Given the description of an element on the screen output the (x, y) to click on. 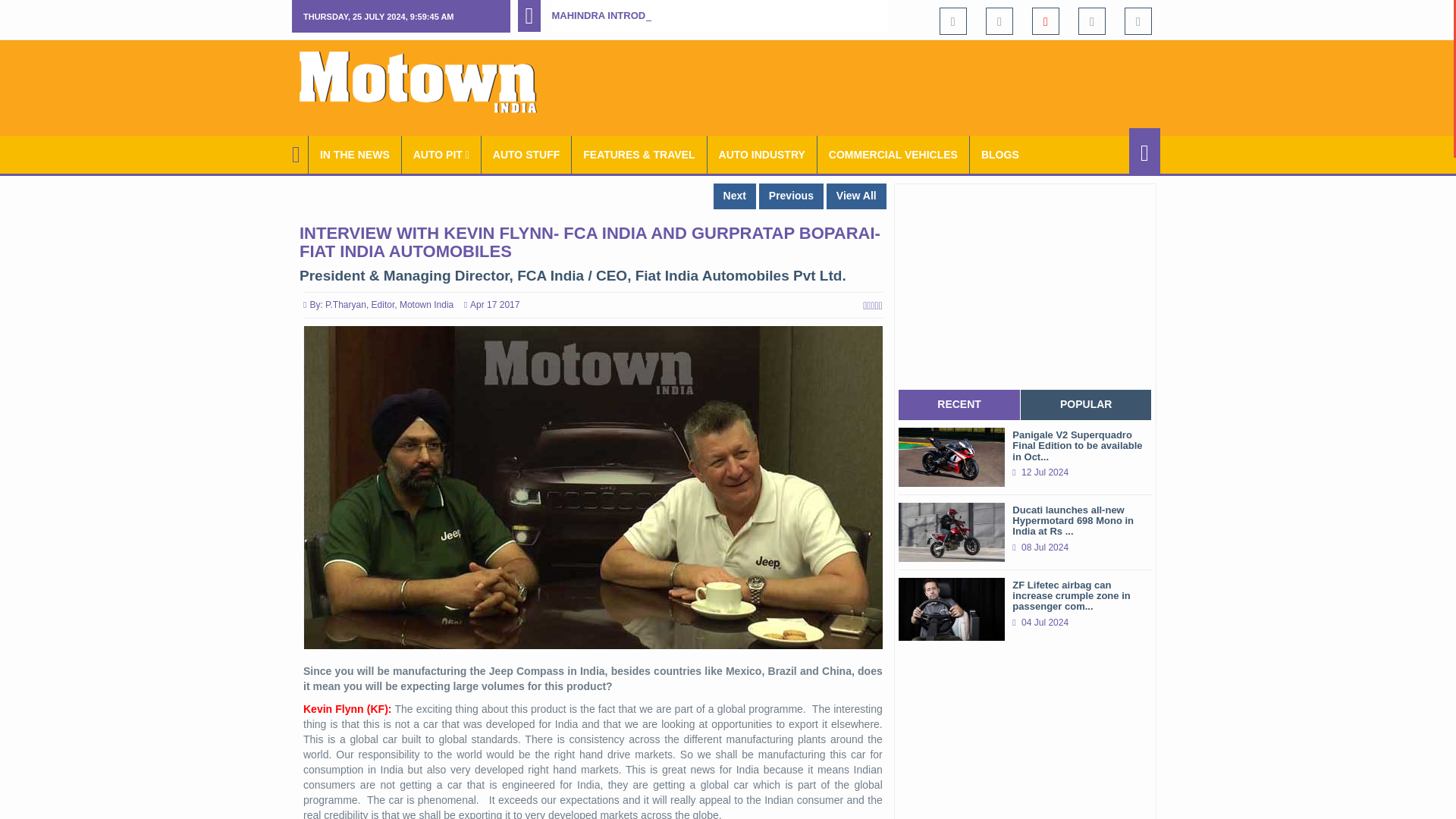
AUTO INDUSTRY by Motown India (761, 154)
View All (856, 196)
MotownIndia (427, 81)
View All In The News - Motown India (354, 154)
Motown India on YouTube (1045, 20)
Motown India on Twitter (999, 19)
Next (734, 196)
COMMERCIAL VEHICLES by Motown India (892, 154)
MAHINDRA INTRODUCES NEW FEATURES IN SCORPIO-N Z8 RANGE (714, 15)
COMMERCIAL VEHICLES (892, 154)
Auto Stuff by Motown India (526, 154)
View All - Motown India (856, 196)
AUTO STUFF (526, 154)
